Given the description of an element on the screen output the (x, y) to click on. 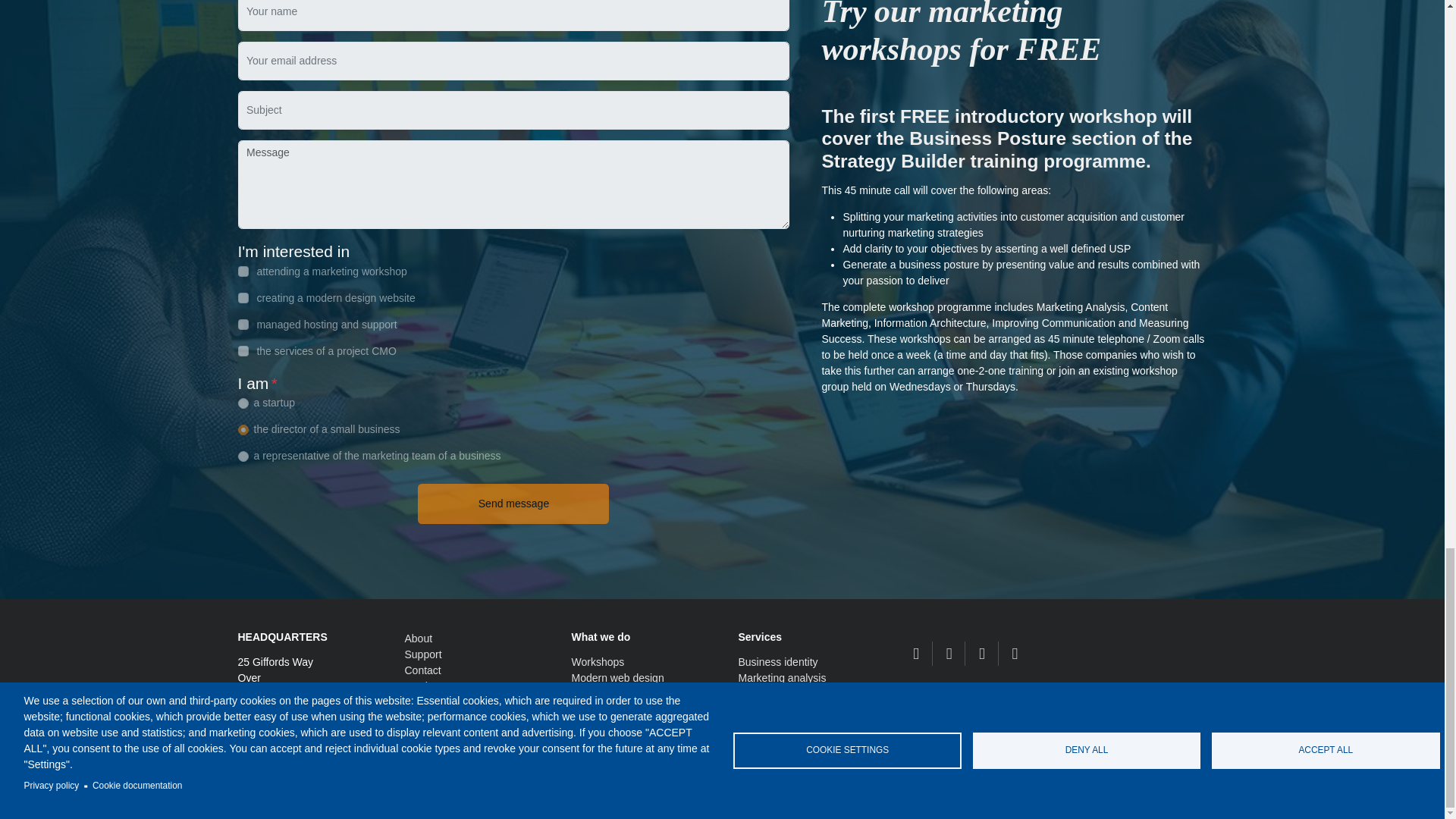
Modern web design (617, 677)
Managed hosting and support (623, 701)
Business analytics (781, 741)
Send message (512, 504)
Workshops (598, 662)
Information Architecture (794, 709)
Marketing analysis (782, 677)
Coherent Content Marketing (781, 693)
Business identiy (778, 662)
Messaging strategy (783, 725)
